Given the description of an element on the screen output the (x, y) to click on. 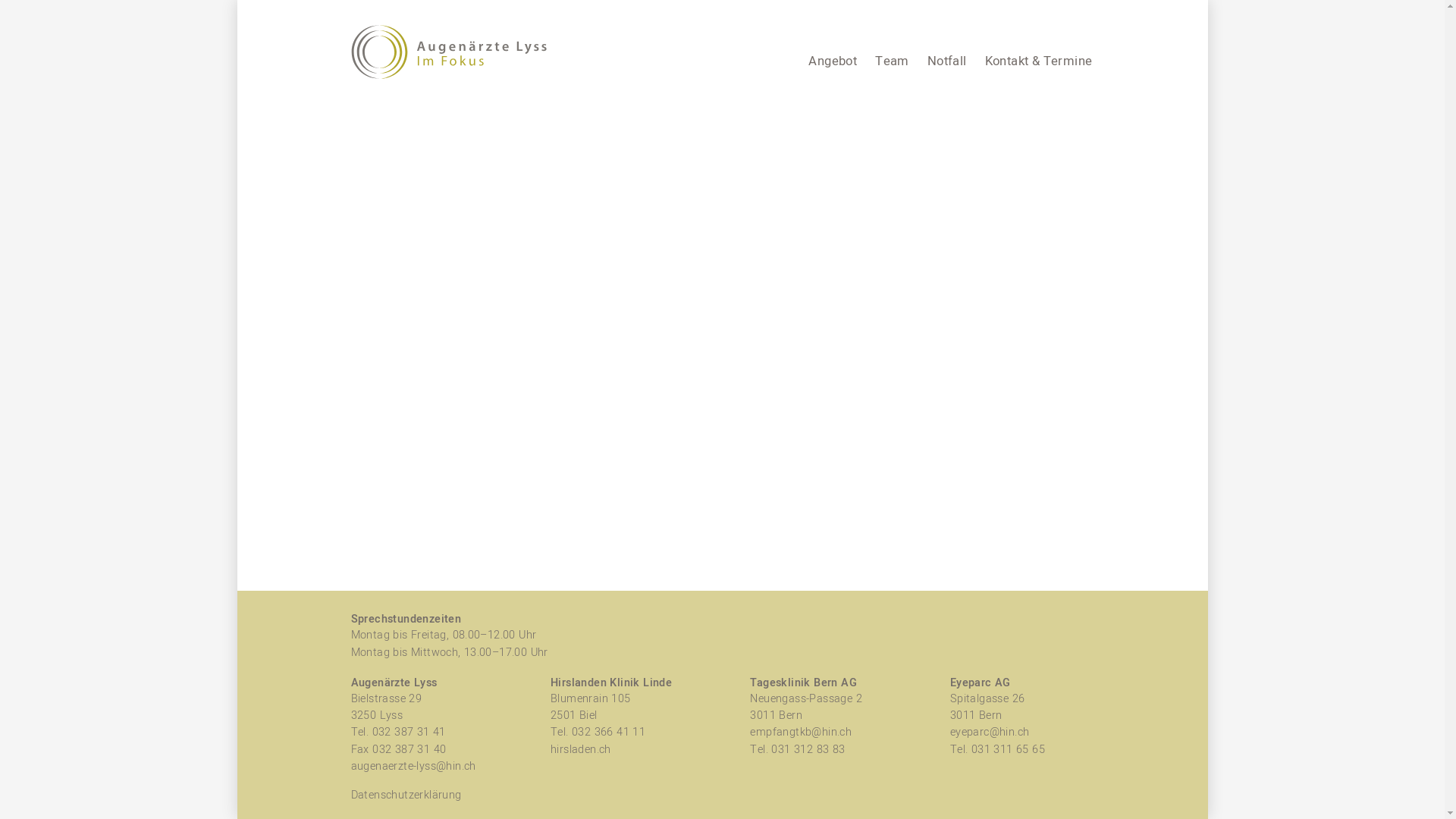
032 387 31 41 Element type: text (408, 732)
hirsladen.ch Element type: text (580, 749)
augenaerzte-lyss@hin.ch Element type: text (412, 766)
empfangtkb@hin.ch Element type: text (800, 732)
eyeparc@hin.ch Element type: text (989, 732)
031 311 65 65 Element type: text (1007, 749)
032 366 41 11 Element type: text (608, 732)
Angebot Element type: text (832, 61)
031 312 83 83 Element type: text (807, 749)
Notfall Element type: text (946, 61)
Kontakt & Termine Element type: text (1038, 61)
Team Element type: text (891, 61)
